Given the description of an element on the screen output the (x, y) to click on. 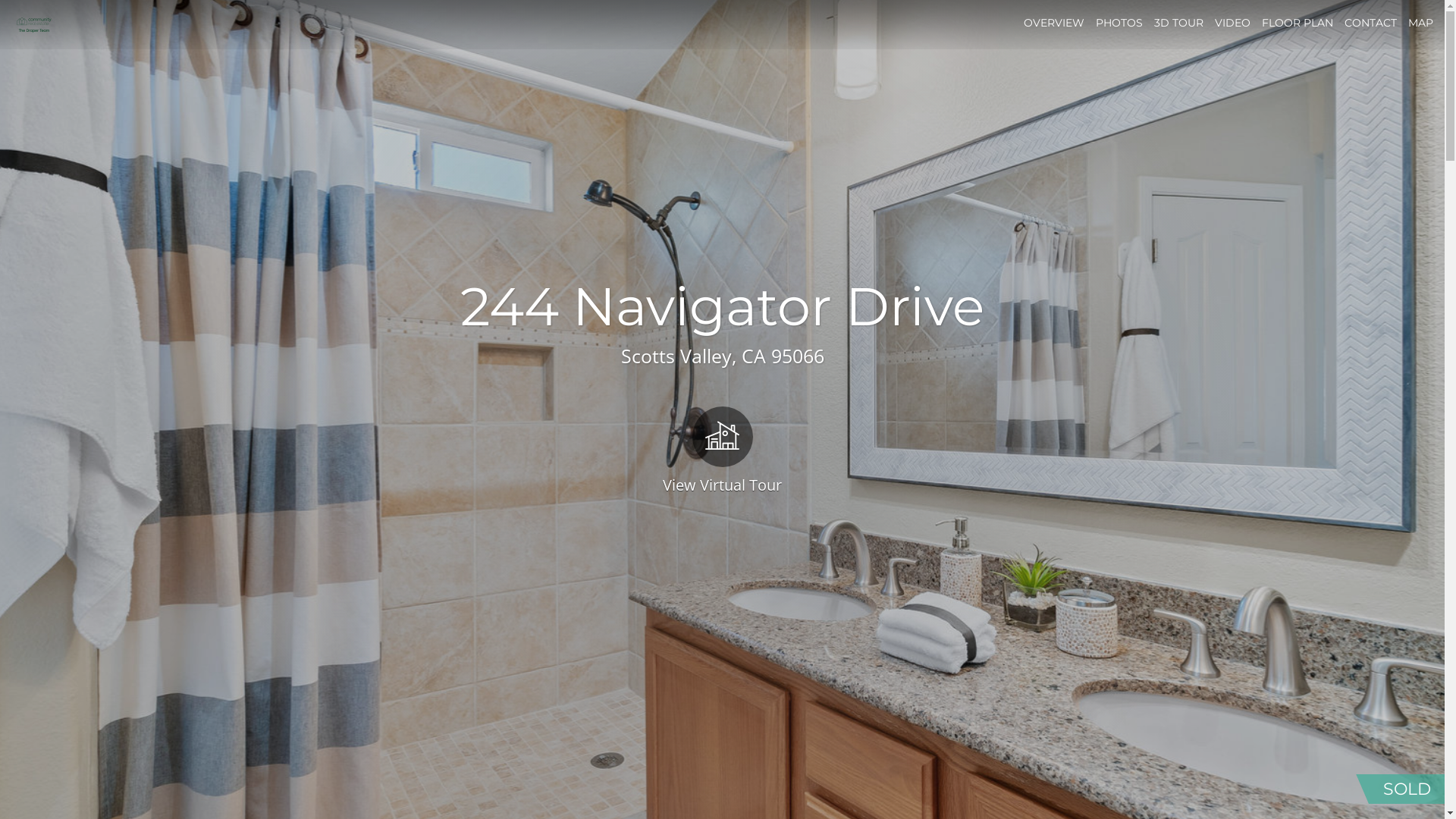
FLOOR PLAN Element type: text (1297, 22)
3D TOUR Element type: text (1178, 22)
VIDEO Element type: text (1232, 22)
PHOTOS Element type: text (1118, 22)
MAP Element type: text (1420, 22)
CONTACT Element type: text (1370, 22)
View Virtual Tour Element type: text (722, 448)
OVERVIEW Element type: text (1053, 22)
